Given the description of an element on the screen output the (x, y) to click on. 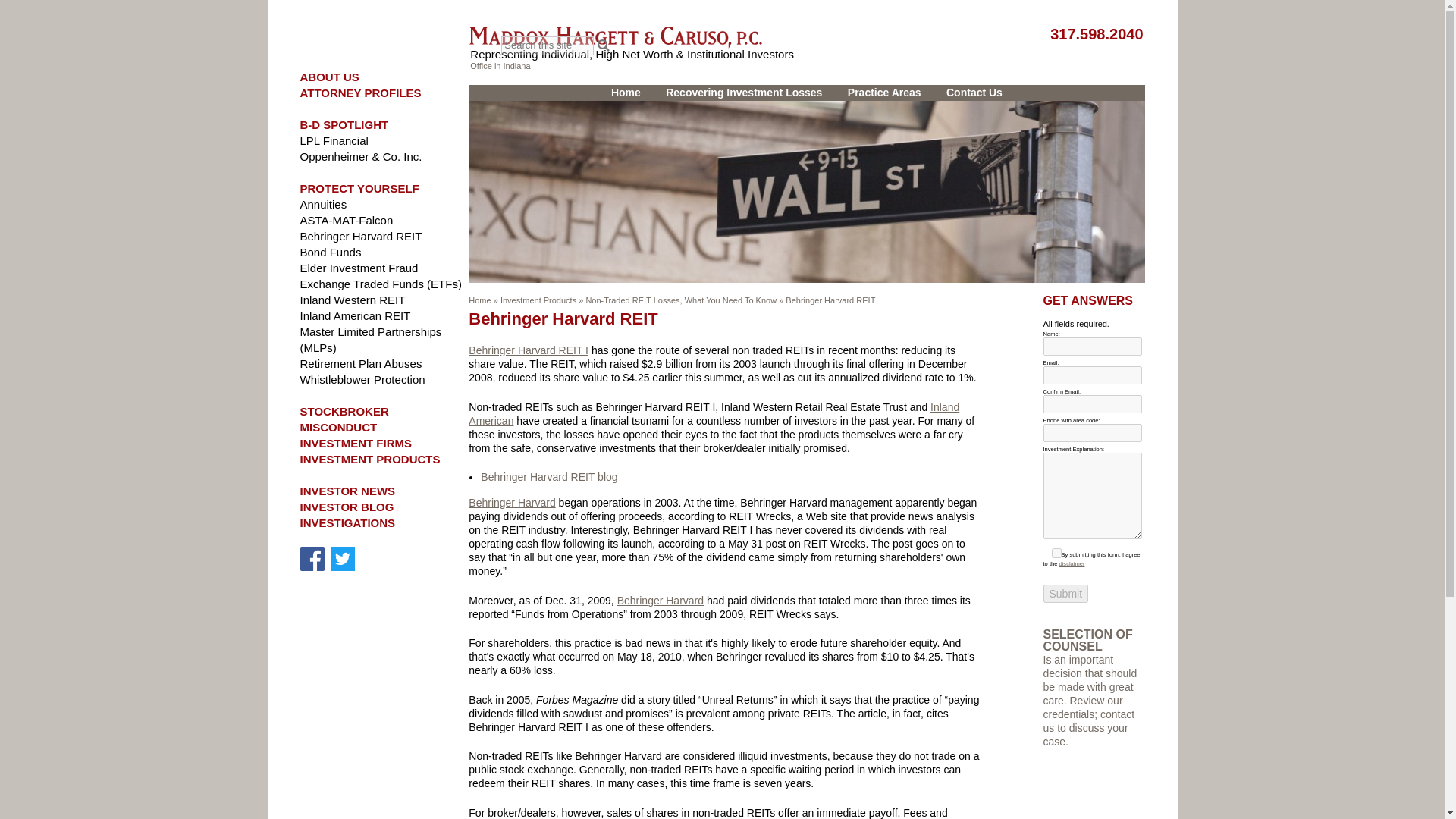
Elder Investment Fraud (359, 267)
disclaimer (1071, 563)
Search (603, 45)
Annuities (323, 204)
B-D SPOTLIGHT (343, 124)
Non-Traded REIT Losses, What You Need To Know (680, 299)
Submit (1066, 593)
Inland Western REIT (352, 299)
Home (626, 92)
SELECTION OF COUNSEL (1087, 640)
Inland American (713, 412)
Whistleblower Protection (362, 379)
1 (1056, 552)
LPL Financial (333, 140)
Submit (1066, 593)
